Given the description of an element on the screen output the (x, y) to click on. 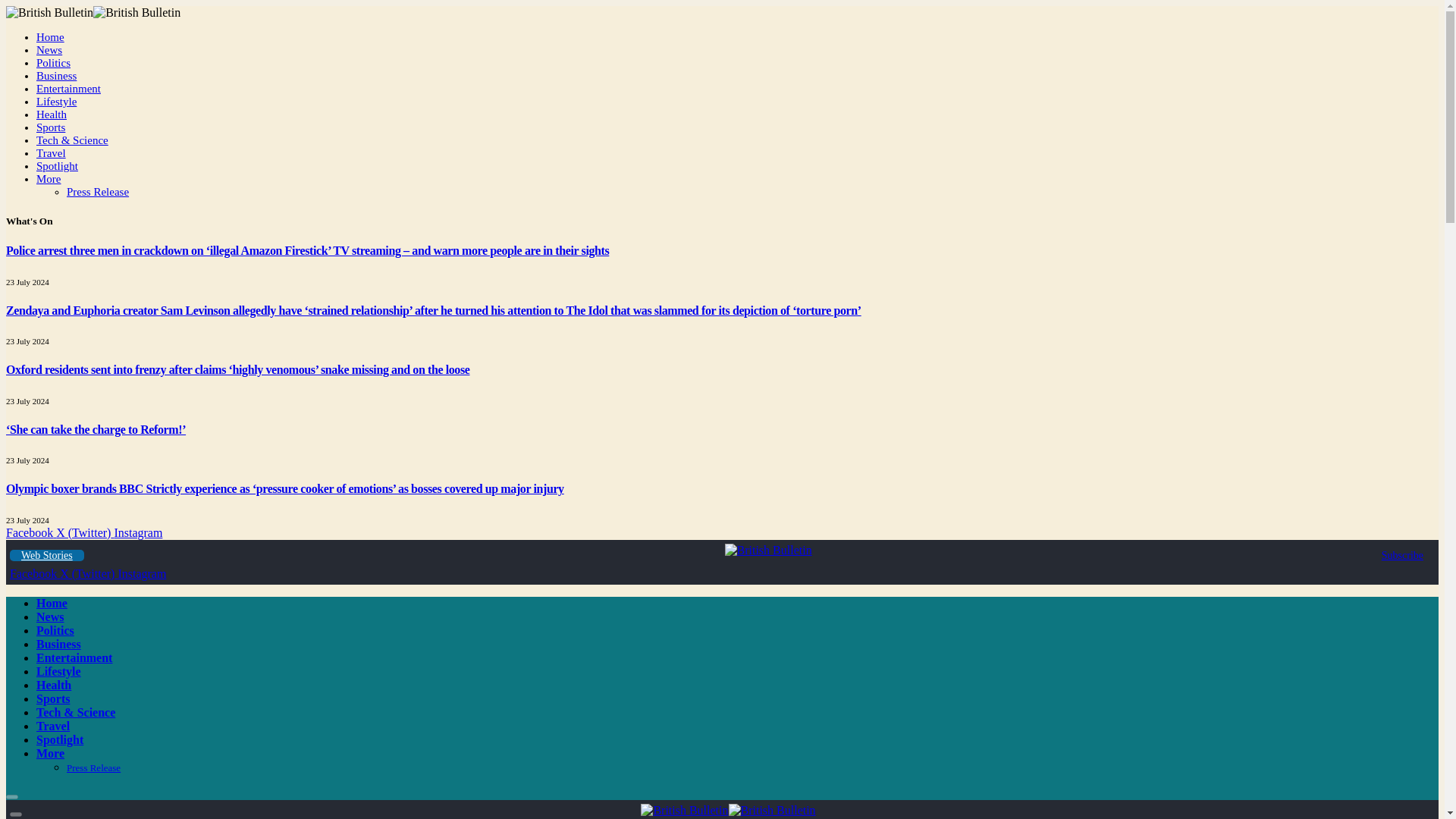
More (48, 178)
News (50, 616)
Entertainment (68, 88)
Home (51, 603)
Web Stories (47, 555)
Instagram (137, 532)
Entertainment (74, 657)
Health (51, 114)
Lifestyle (58, 671)
British Bulletin (727, 809)
Instagram (141, 573)
Lifestyle (56, 101)
Home (50, 37)
News (49, 50)
Health (53, 684)
